Given the description of an element on the screen output the (x, y) to click on. 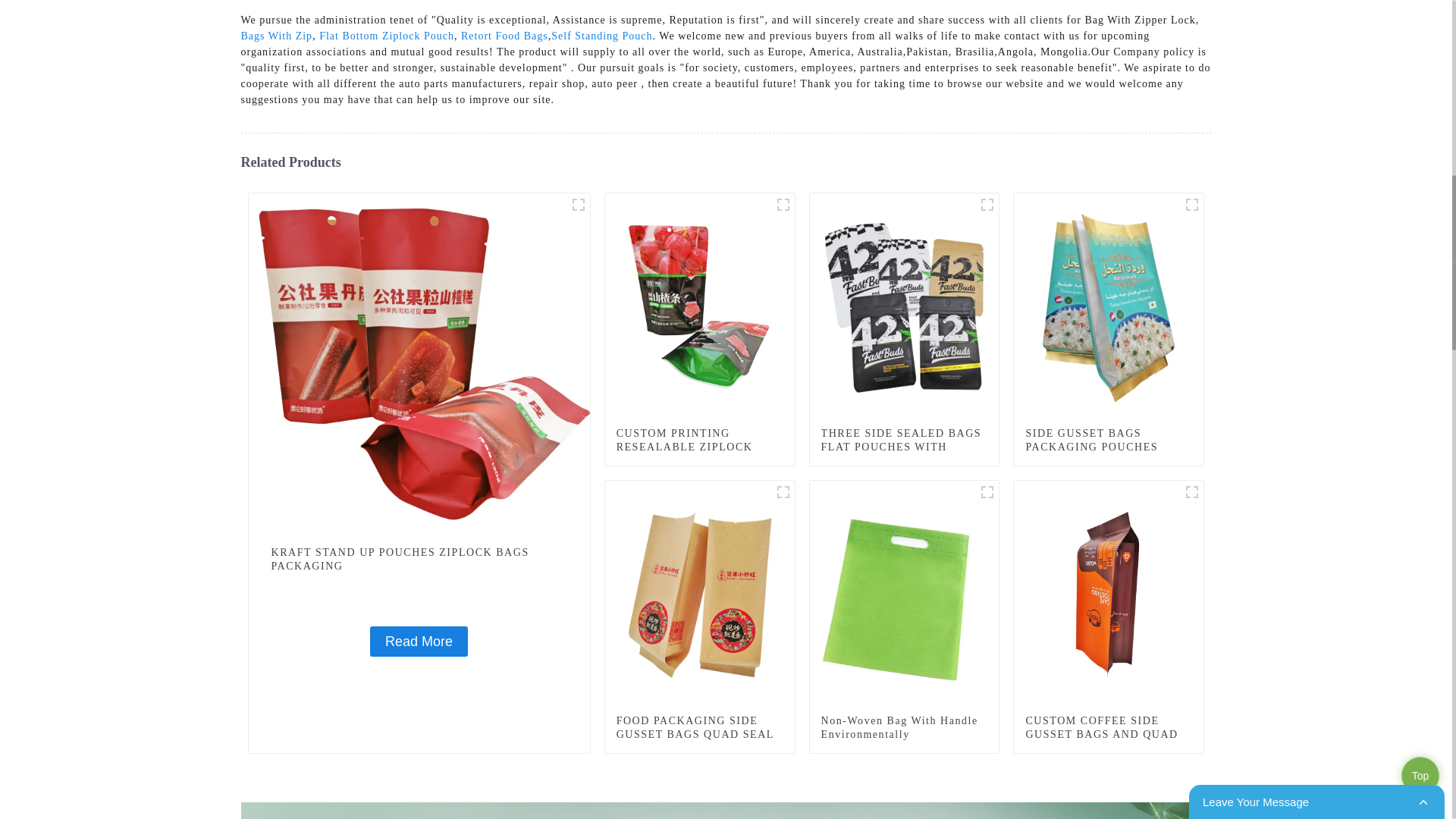
KRAFT STAND UP POUCHES ZIPLOCK BAGS PACKAGING (418, 559)
Self Standing Pouch (601, 35)
Read More (418, 641)
Self Standing Pouch (601, 35)
KRAFT STAND UP POUCHES ZIPLOCK BAGS PACKAGING (418, 641)
1 (782, 204)
